Given the description of an element on the screen output the (x, y) to click on. 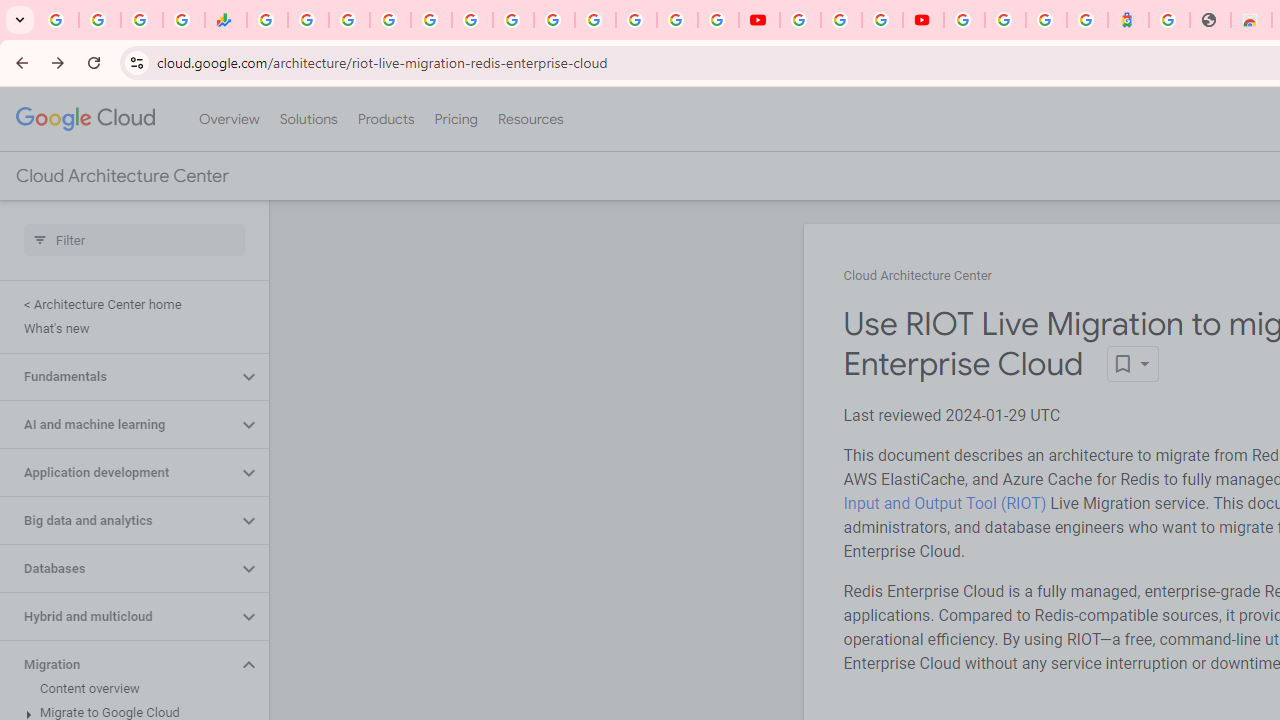
Overview (228, 119)
Pricing (455, 119)
Android TV Policies and Guidelines - Transparency Center (512, 20)
Type to filter (134, 239)
Sign in - Google Accounts (389, 20)
Resources (530, 119)
Application development (118, 472)
Sign in - Google Accounts (1005, 20)
Cloud Architecture Center (917, 276)
